Given the description of an element on the screen output the (x, y) to click on. 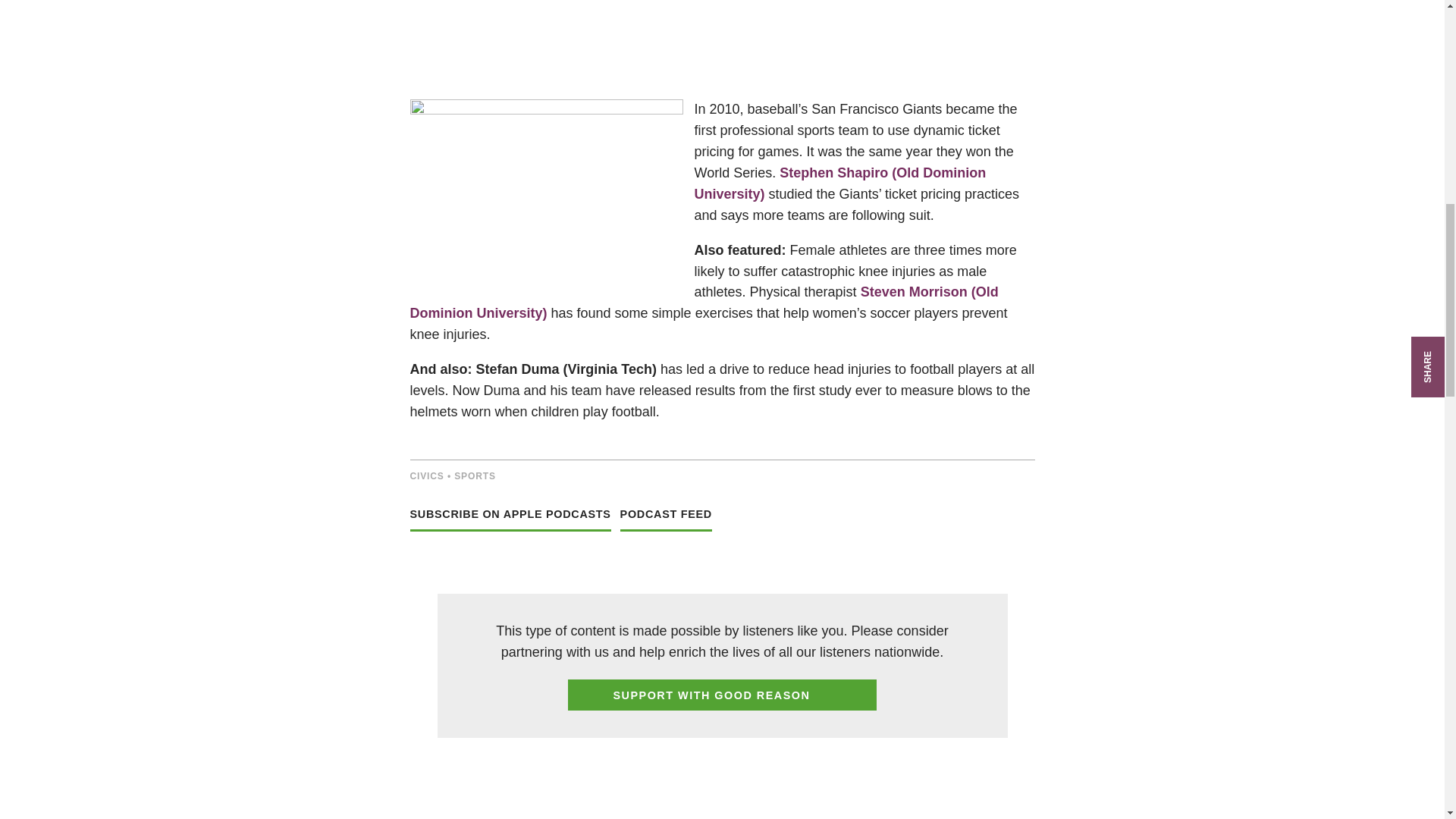
SUPPORT WITH GOOD REASON (721, 694)
SUBSCRIBE ON APPLE PODCASTS (509, 522)
CIVICS (426, 475)
SPORTS (475, 475)
PODCAST FEED (665, 522)
